Given the description of an element on the screen output the (x, y) to click on. 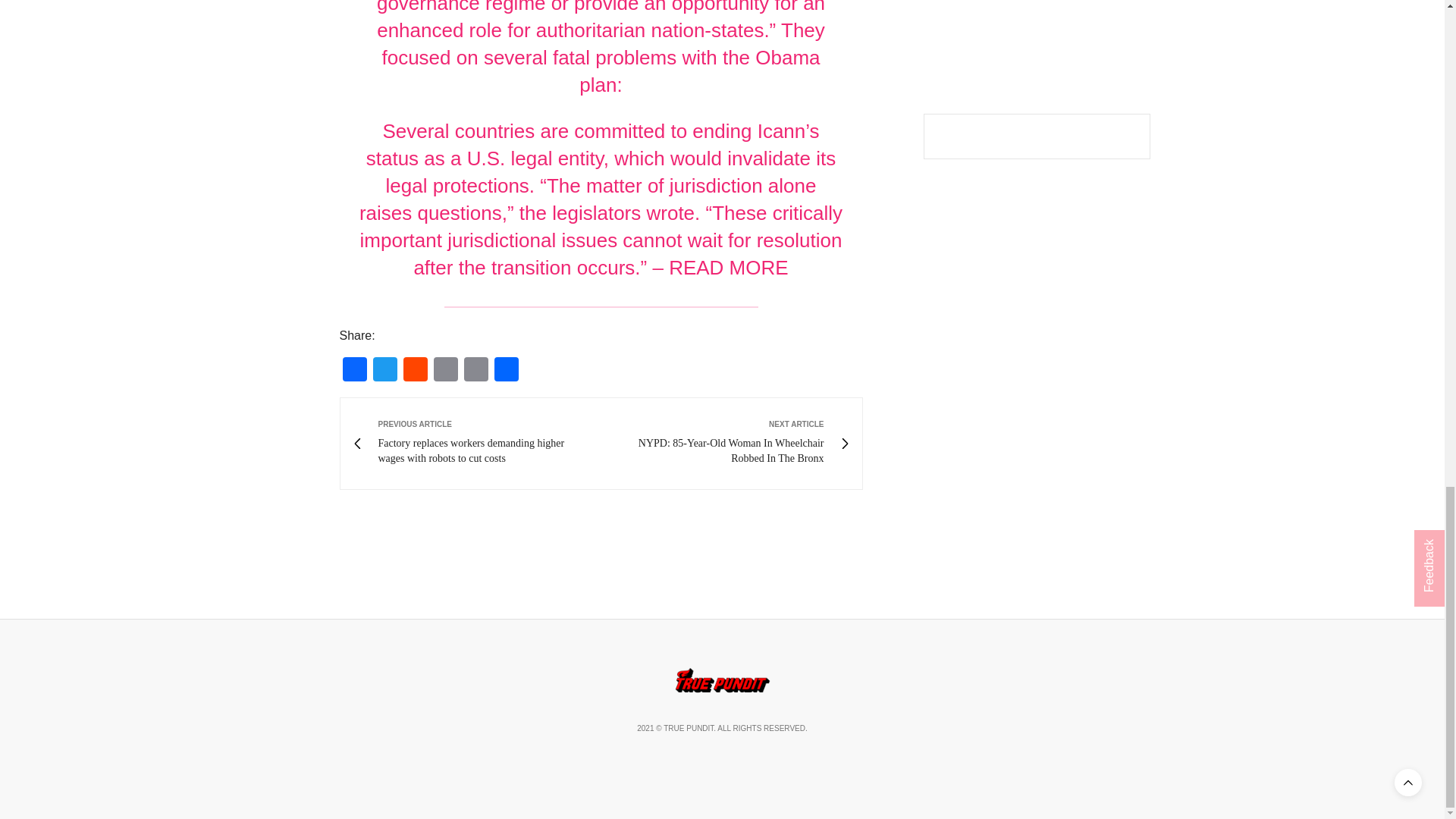
READ MORE (727, 267)
Facebook (354, 370)
Reddit (415, 370)
True Pundit (722, 680)
Copy Link (476, 370)
Twitter (384, 370)
Email (445, 370)
Reddit (415, 370)
Copy Link (476, 370)
